Given the description of an element on the screen output the (x, y) to click on. 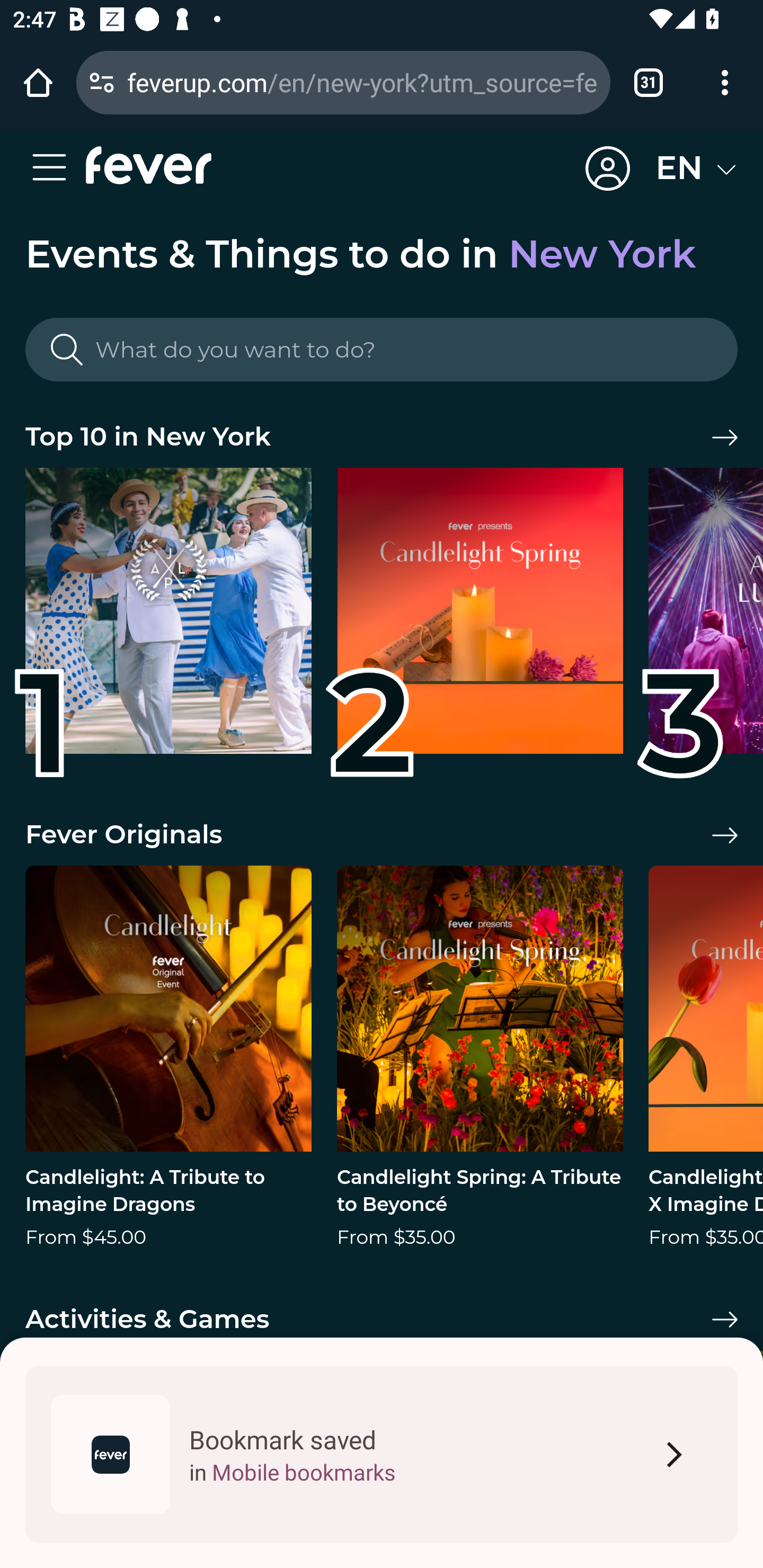
Open the home page (38, 82)
Connection is secure (101, 82)
Switch or close tabs (648, 82)
Customize and control Google Chrome (724, 82)
User account (608, 169)
Fever (148, 165)
Toggle navigation (55, 168)
EN (695, 168)
What do you want to do? (381, 349)
The 19th Annual Jazz Age Lawn Party - Waitlist (168, 617)
Candlelight Spring: A Tribute to Adele (480, 617)
Fever Originals Fever Originals Fever Originals (381, 834)
Edit folder Bookmark saved in Mobile bookmarks (381, 1453)
